Given the description of an element on the screen output the (x, y) to click on. 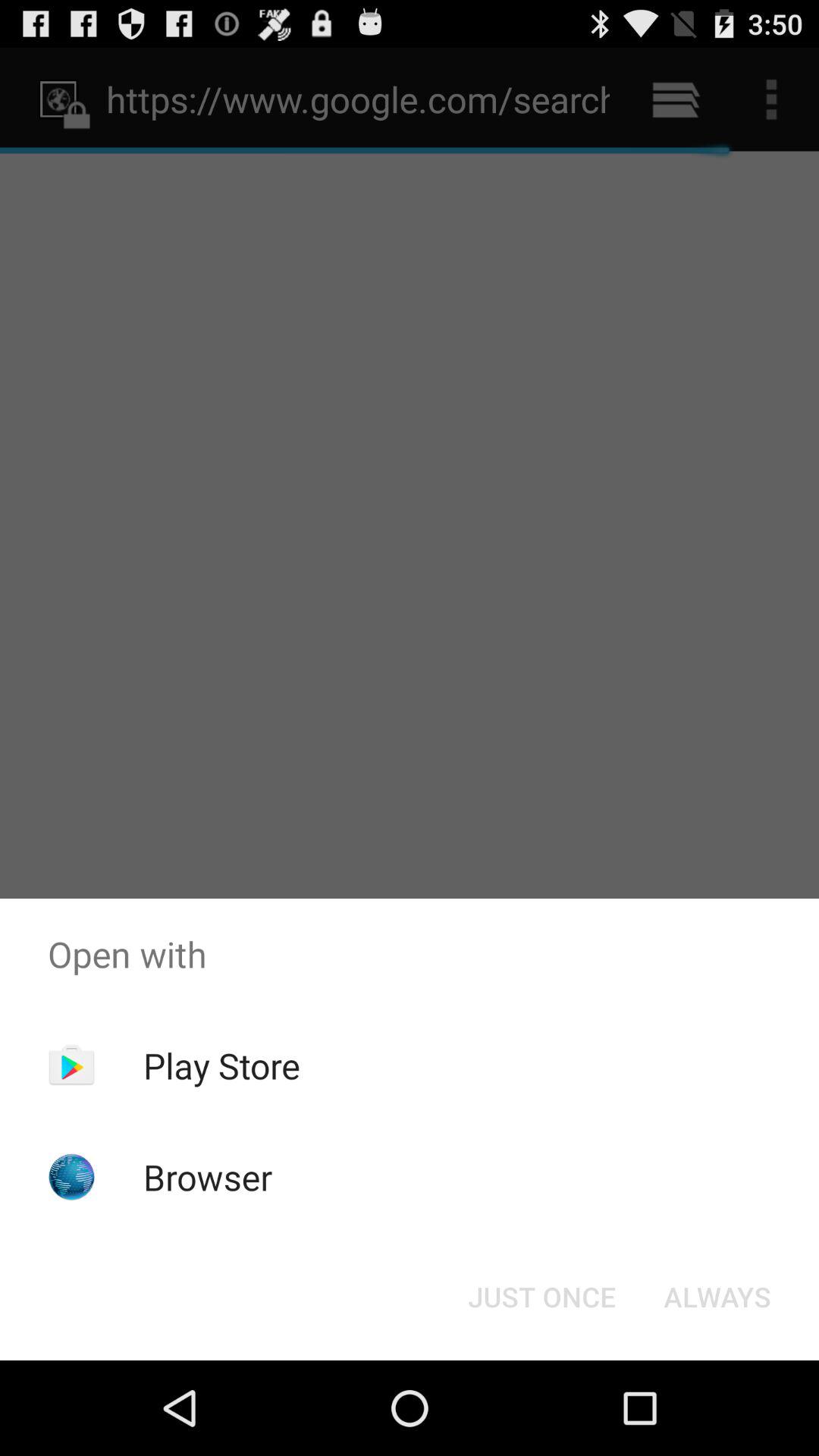
scroll to browser app (207, 1176)
